Given the description of an element on the screen output the (x, y) to click on. 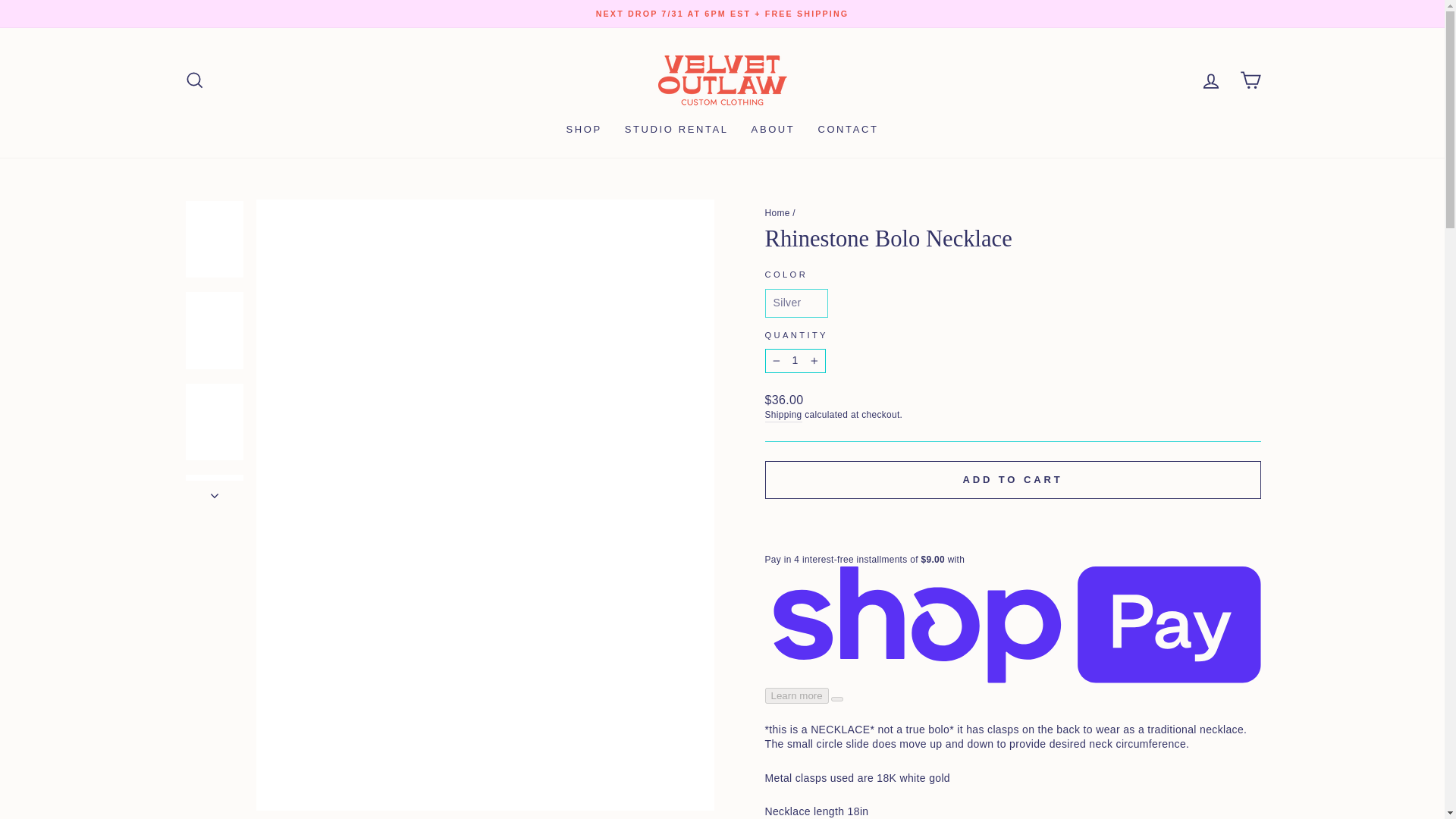
1 (794, 360)
Back to the frontpage (776, 213)
